Given the description of an element on the screen output the (x, y) to click on. 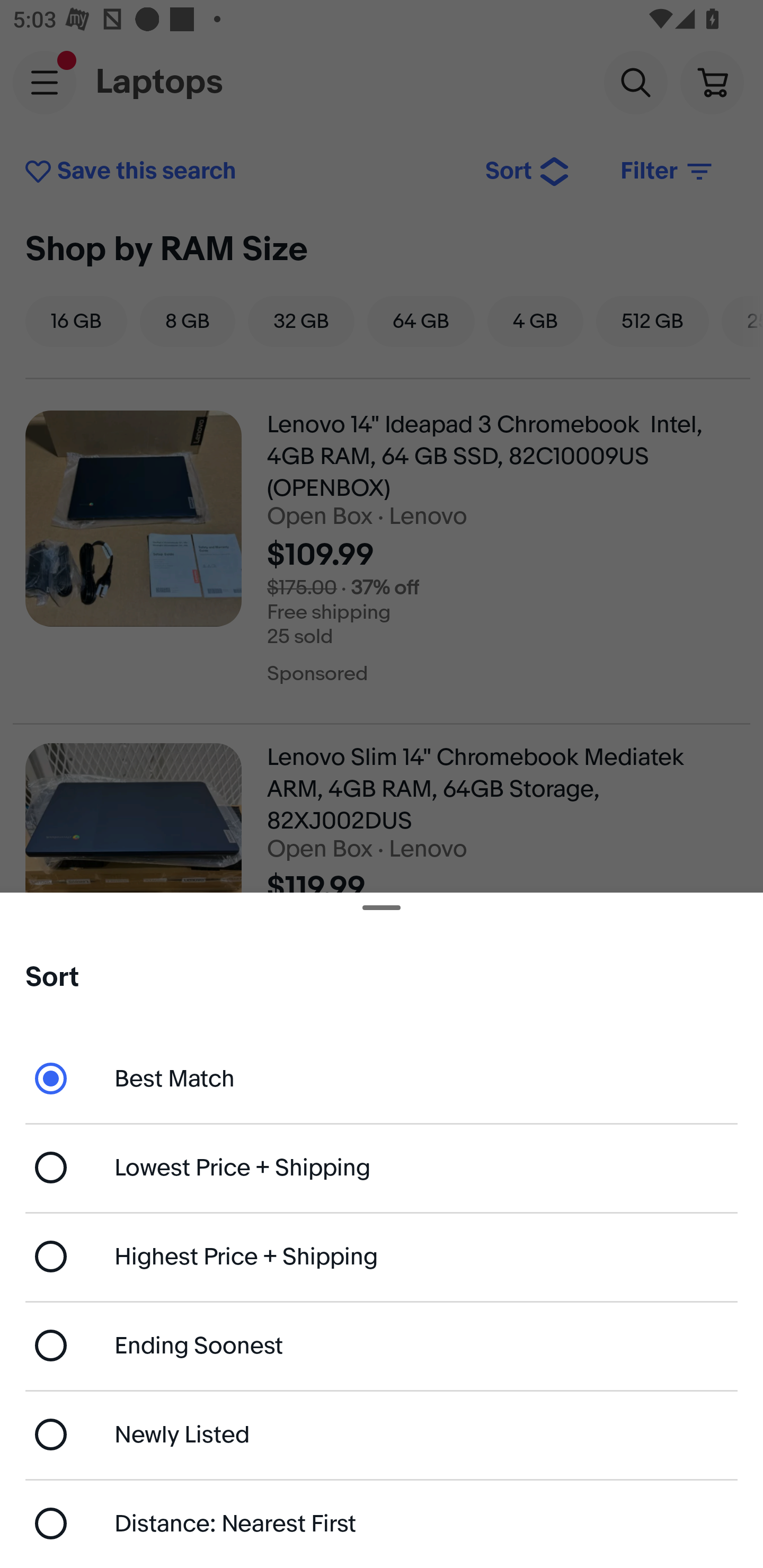
Best Match - currently selected Best Match (381, 1077)
Lowest Price + Shipping (381, 1167)
Highest Price + Shipping (381, 1256)
Ending Soonest (381, 1345)
Newly Listed (381, 1433)
Distance: Nearest First (381, 1523)
